Given the description of an element on the screen output the (x, y) to click on. 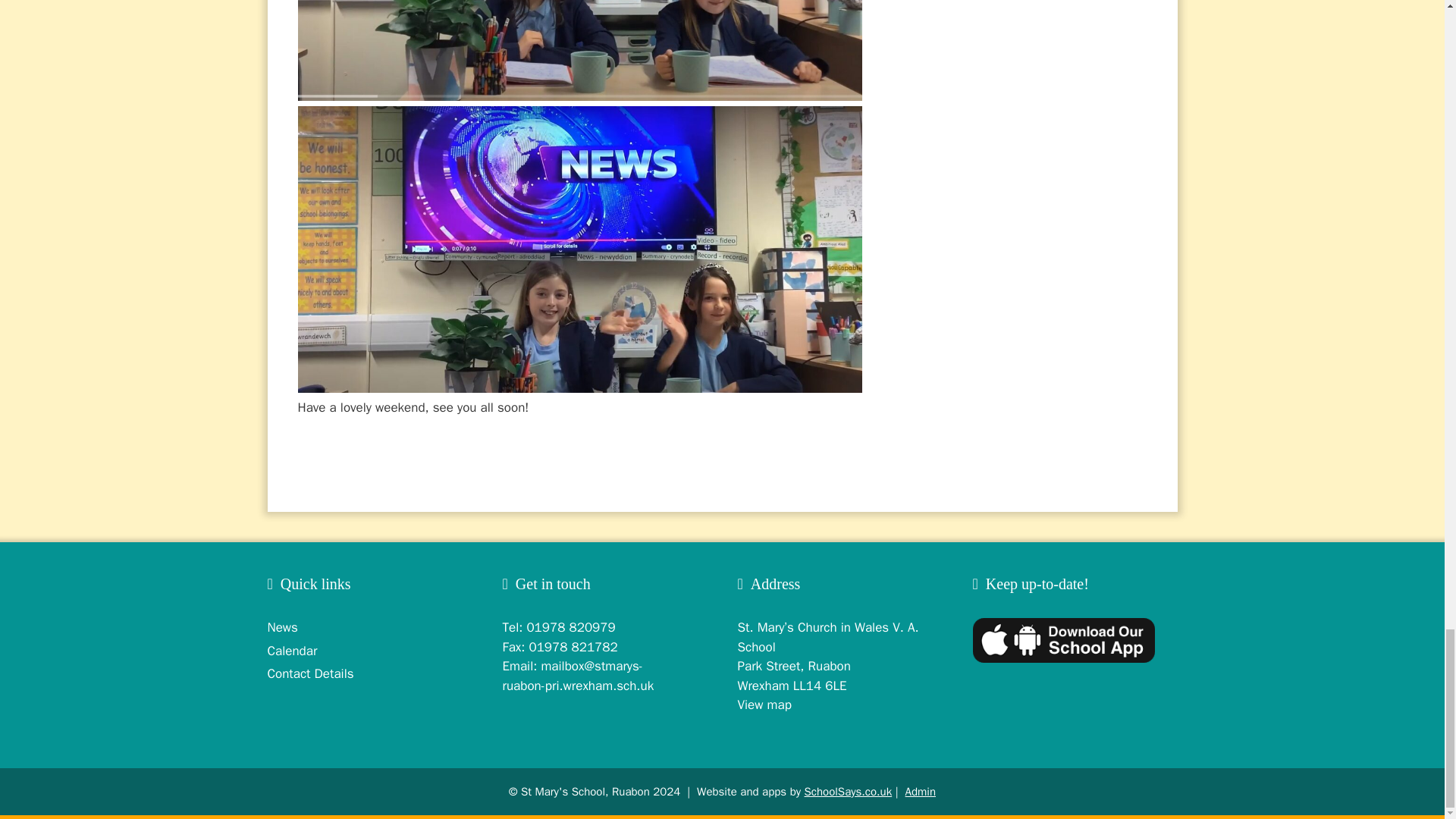
Website admin login (920, 791)
